Given the description of an element on the screen output the (x, y) to click on. 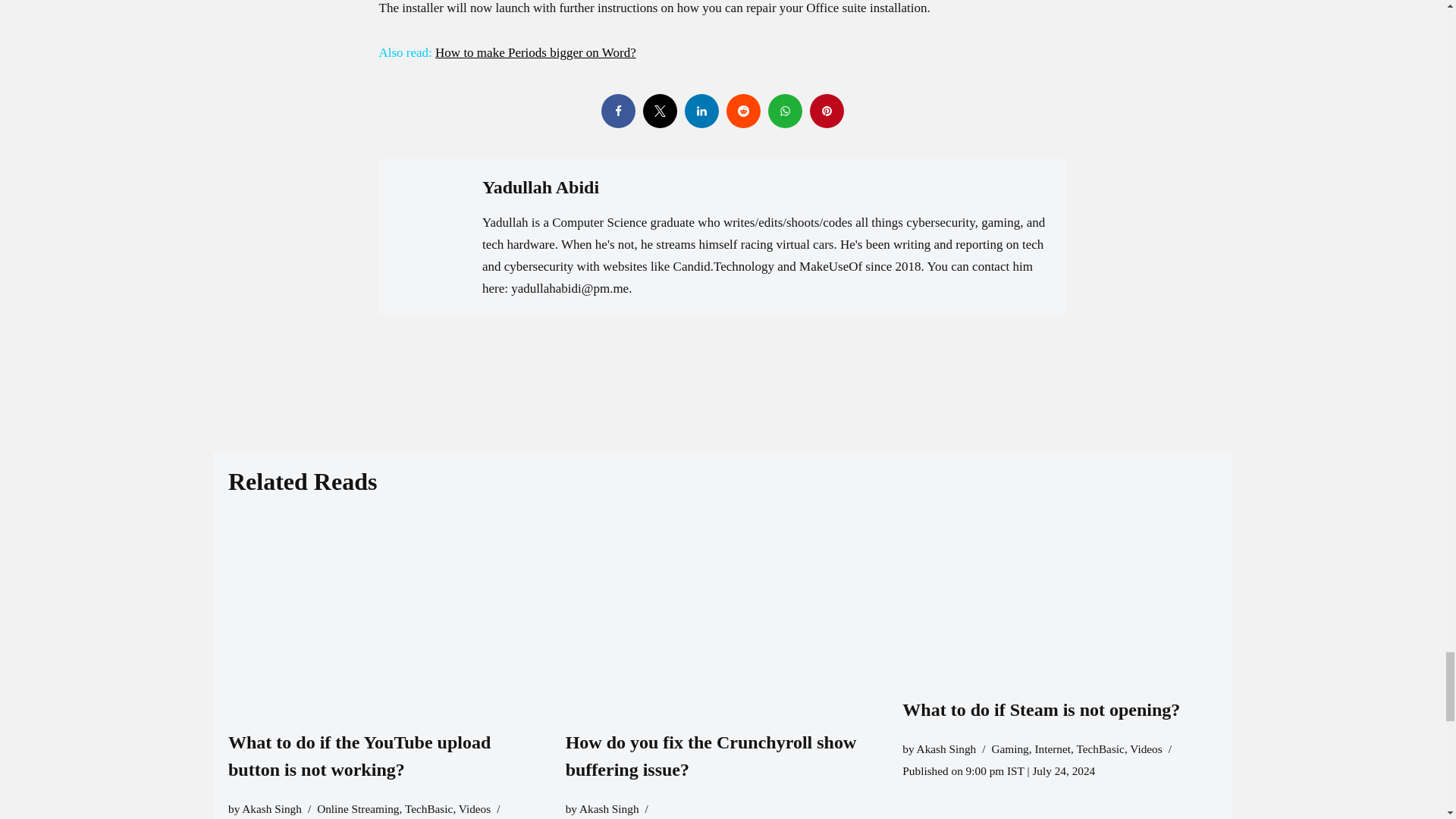
Whatsapp (784, 110)
Linkedin (700, 110)
Reddit (743, 110)
Pinterest (826, 110)
Facebook (616, 110)
Twitter (660, 110)
